Given the description of an element on the screen output the (x, y) to click on. 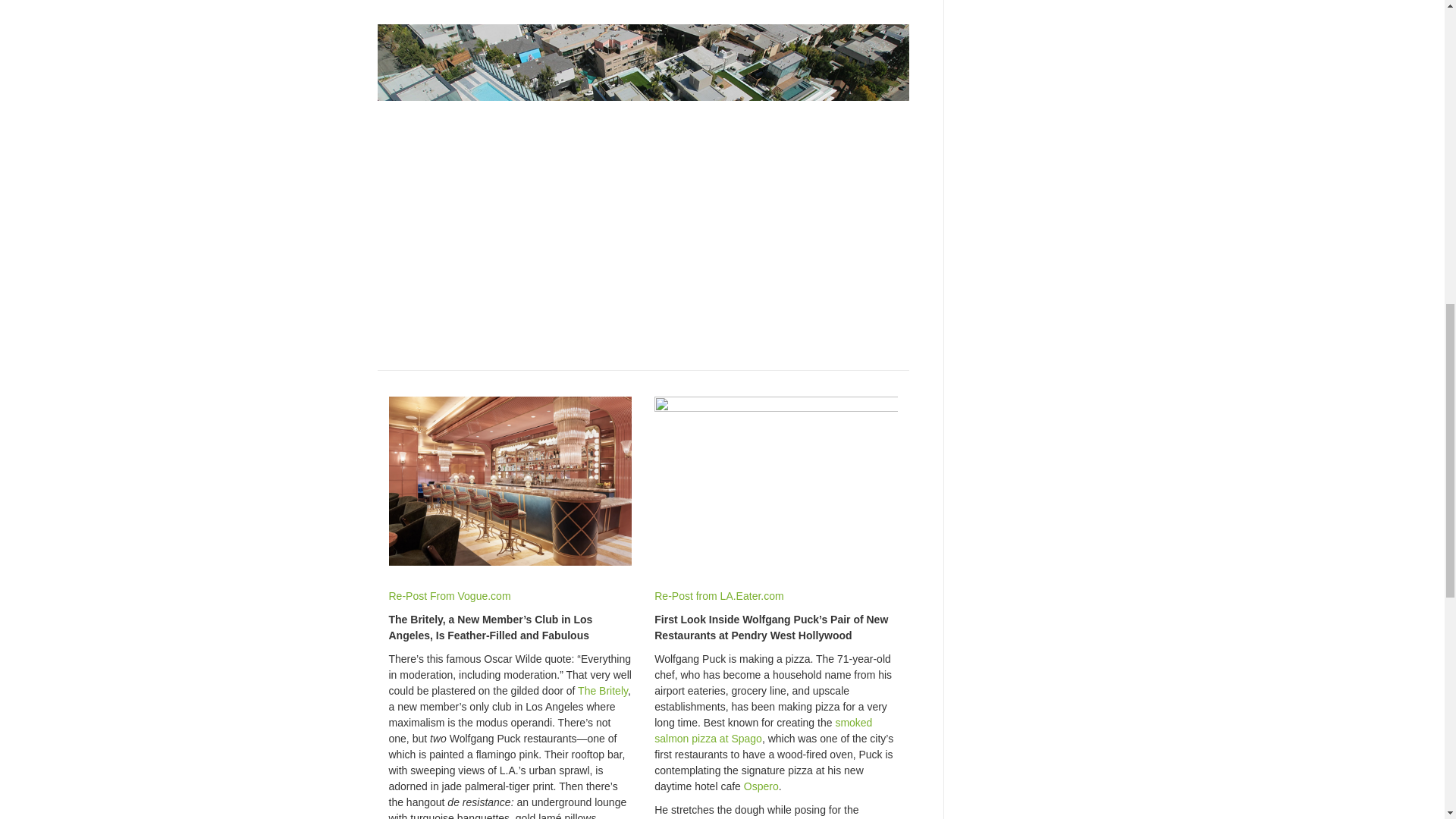
vogue (509, 480)
wolfgang (775, 480)
